Given the description of an element on the screen output the (x, y) to click on. 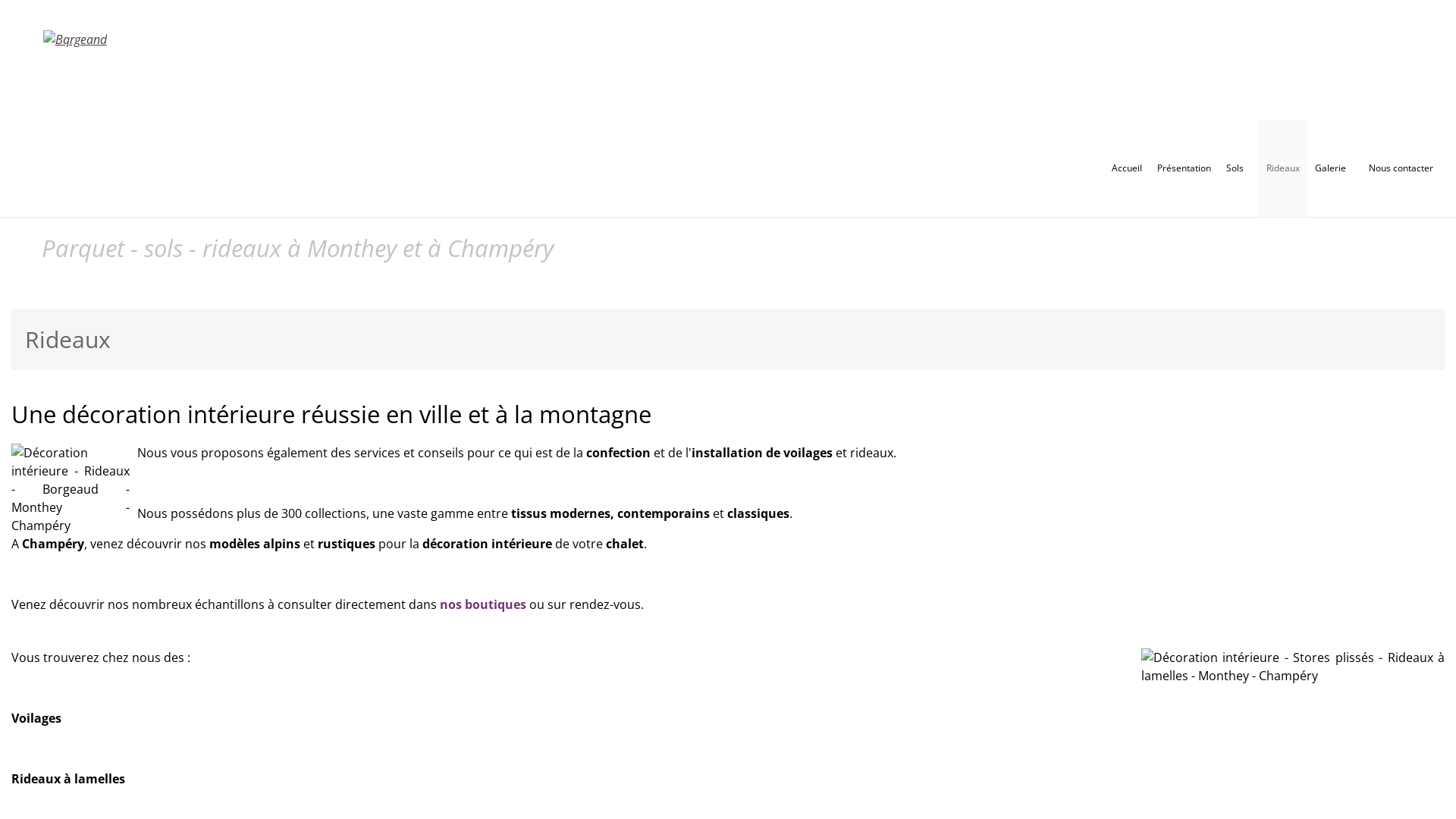
Sols Element type: text (1238, 167)
Nous contacter Element type: text (1400, 167)
Accueil Element type: text (1126, 167)
Galerie Element type: text (1334, 167)
Rideaux Element type: text (1282, 167)
nos boutiques Element type: text (482, 604)
